Given the description of an element on the screen output the (x, y) to click on. 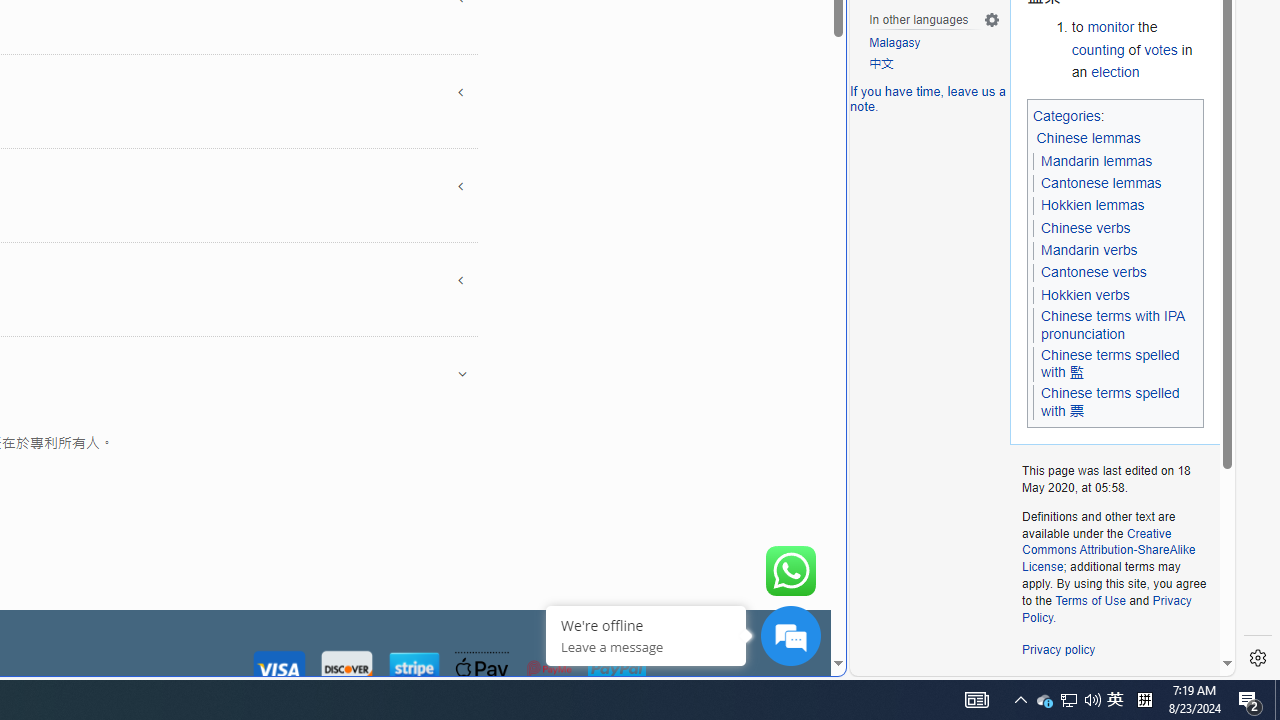
google_privacy_policy_zh-CN.pdf (687, 482)
Mandarin lemmas (1095, 161)
Chinese lemmas (1090, 139)
Mandarin lemmas (1096, 160)
Terms of Use (1090, 600)
Chinese verbs (1084, 228)
This page was last edited on 18 May 2020, at 05:58. (1114, 480)
monitor (1110, 27)
